Given the description of an element on the screen output the (x, y) to click on. 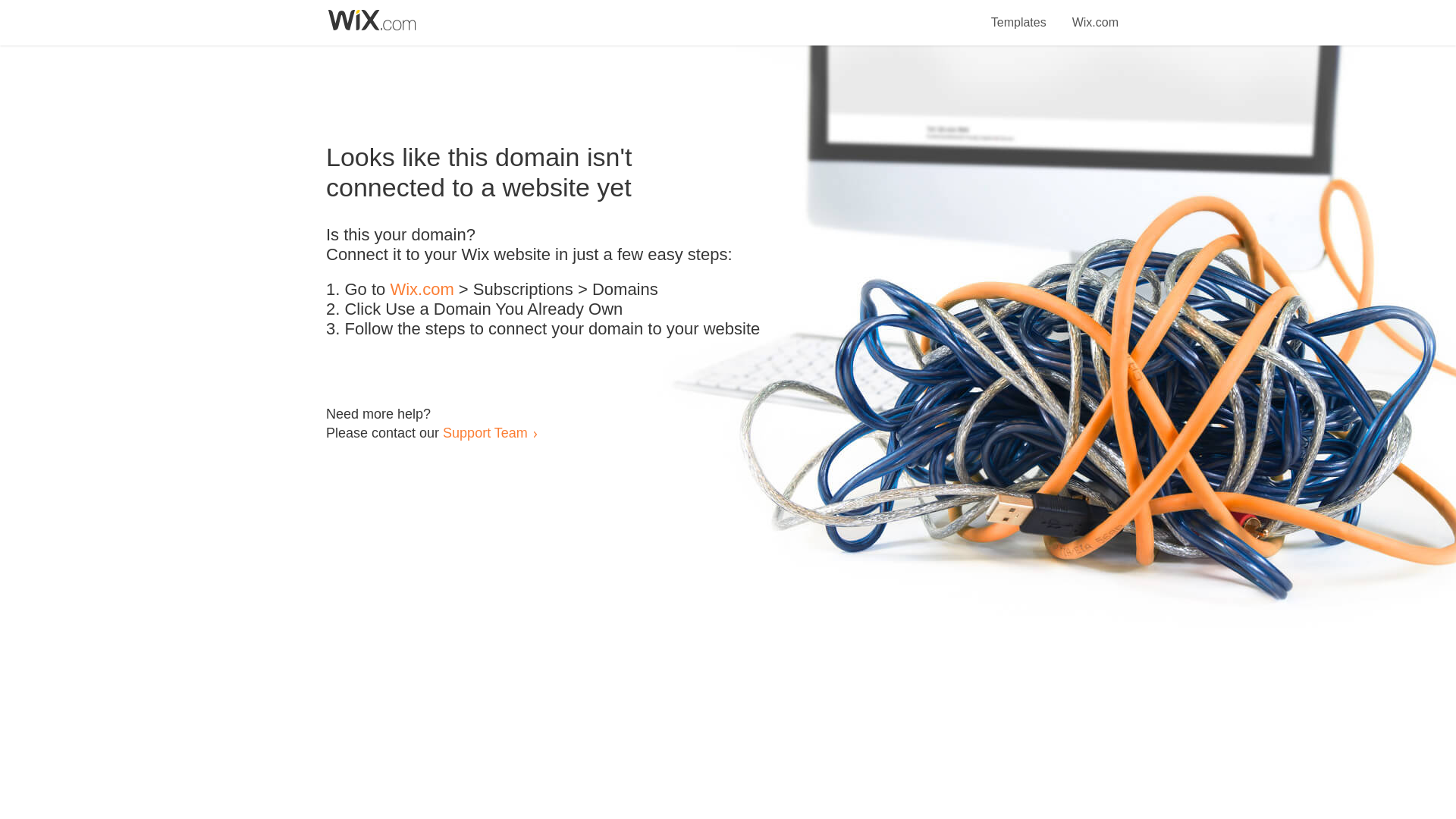
Wix.com (1095, 14)
Support Team (484, 432)
Wix.com (421, 289)
Templates (1018, 14)
